Given the description of an element on the screen output the (x, y) to click on. 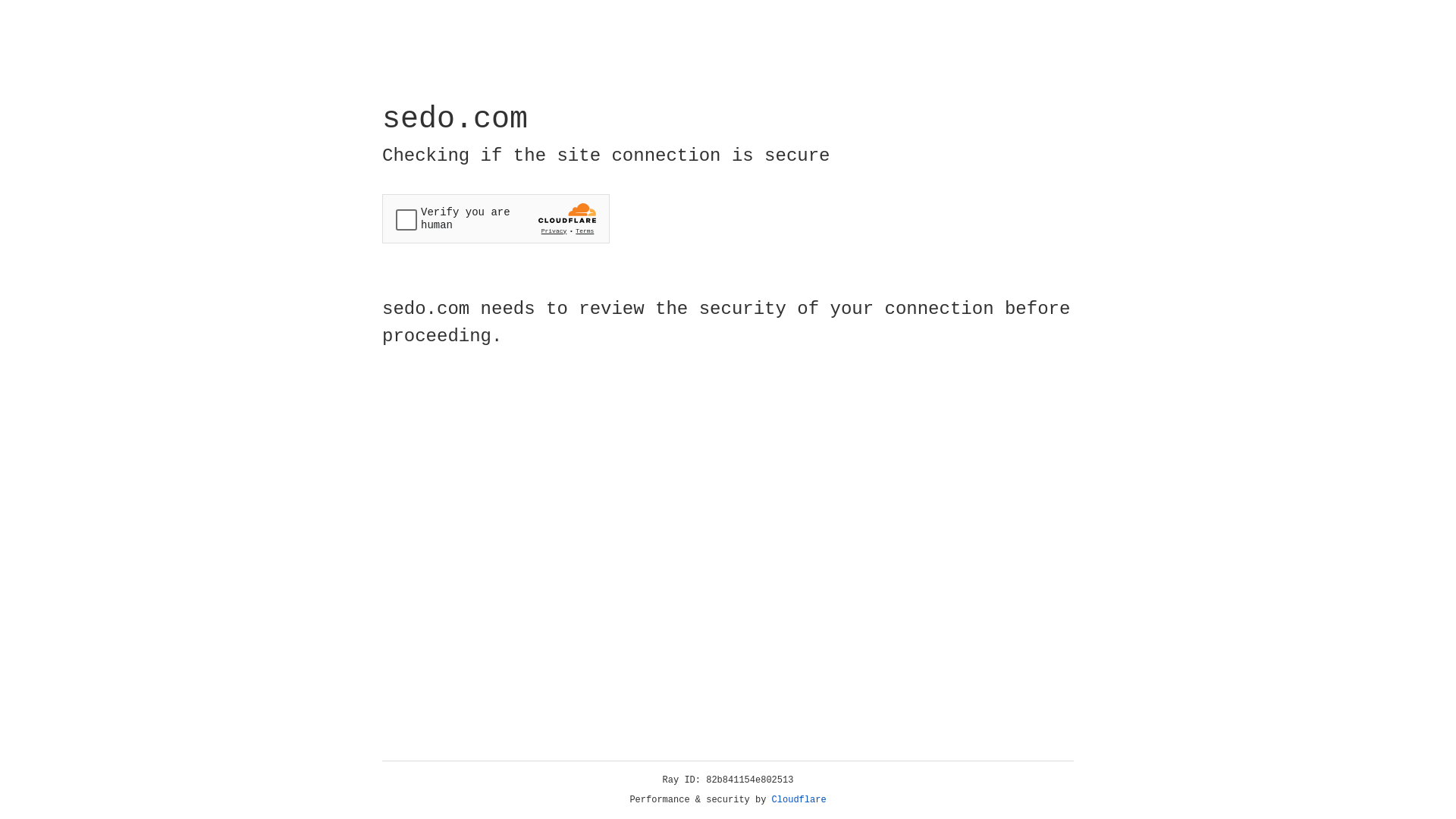
Widget containing a Cloudflare security challenge Element type: hover (495, 218)
Cloudflare Element type: text (798, 799)
